Given the description of an element on the screen output the (x, y) to click on. 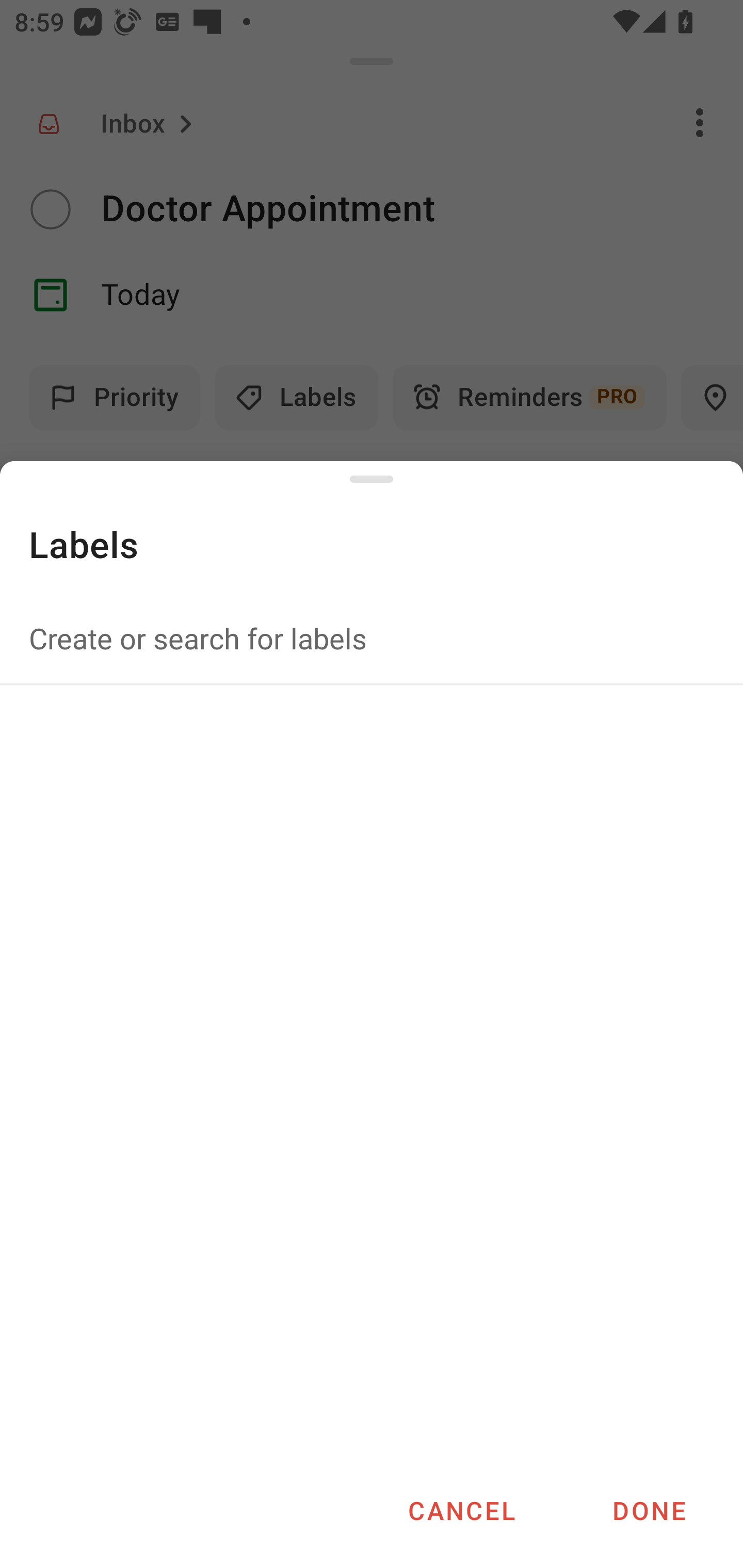
Create or search for labels (371, 638)
CANCEL (460, 1510)
DONE (648, 1510)
